Given the description of an element on the screen output the (x, y) to click on. 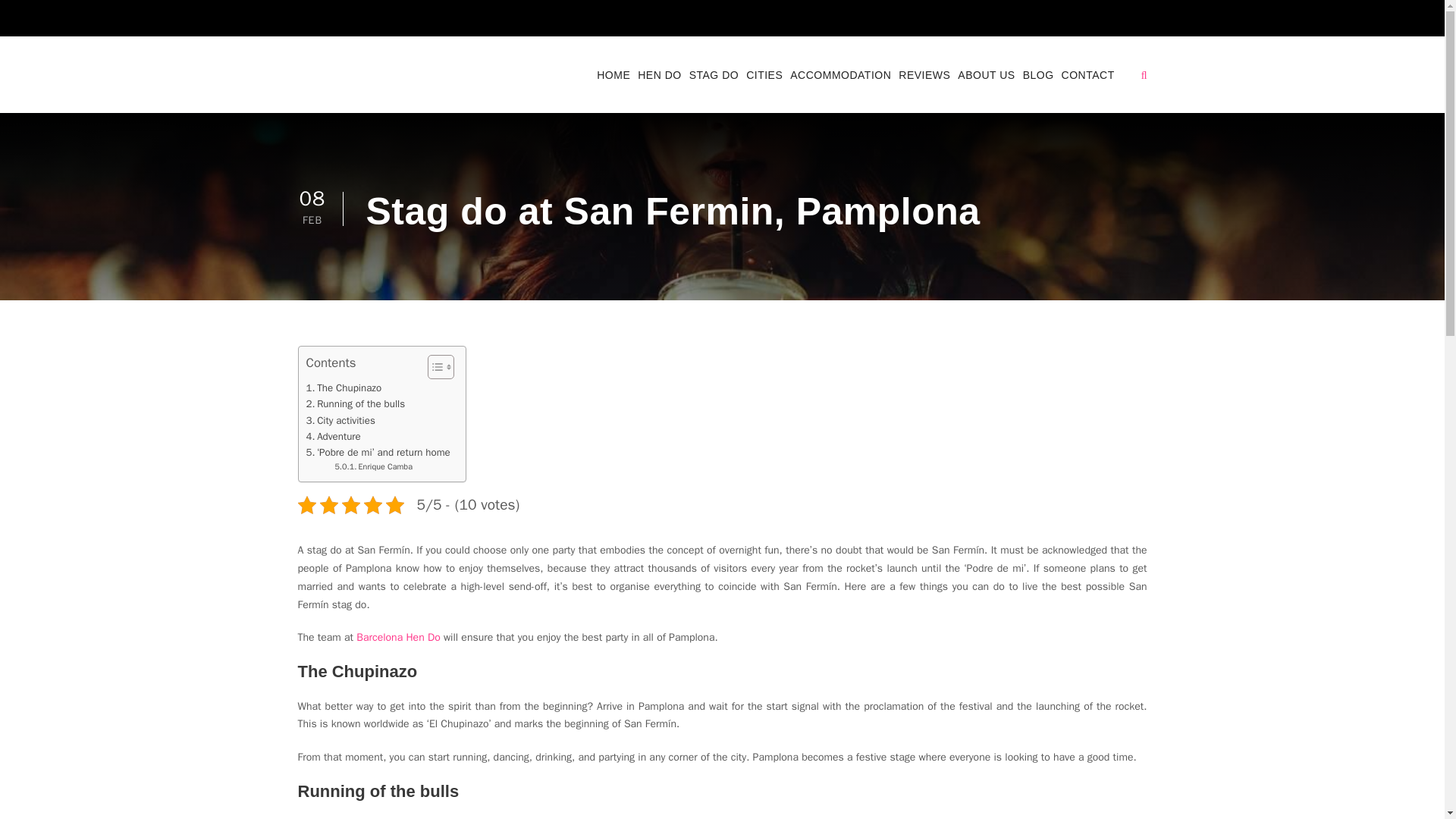
The Chupinazo (343, 387)
English - Barcelona Hen Do (1064, 21)
Adventure (333, 436)
City activities (340, 420)
Running of the bulls (355, 403)
Spanish - Despedidas de soltera y soltero en Barcelona (1098, 21)
